Given the description of an element on the screen output the (x, y) to click on. 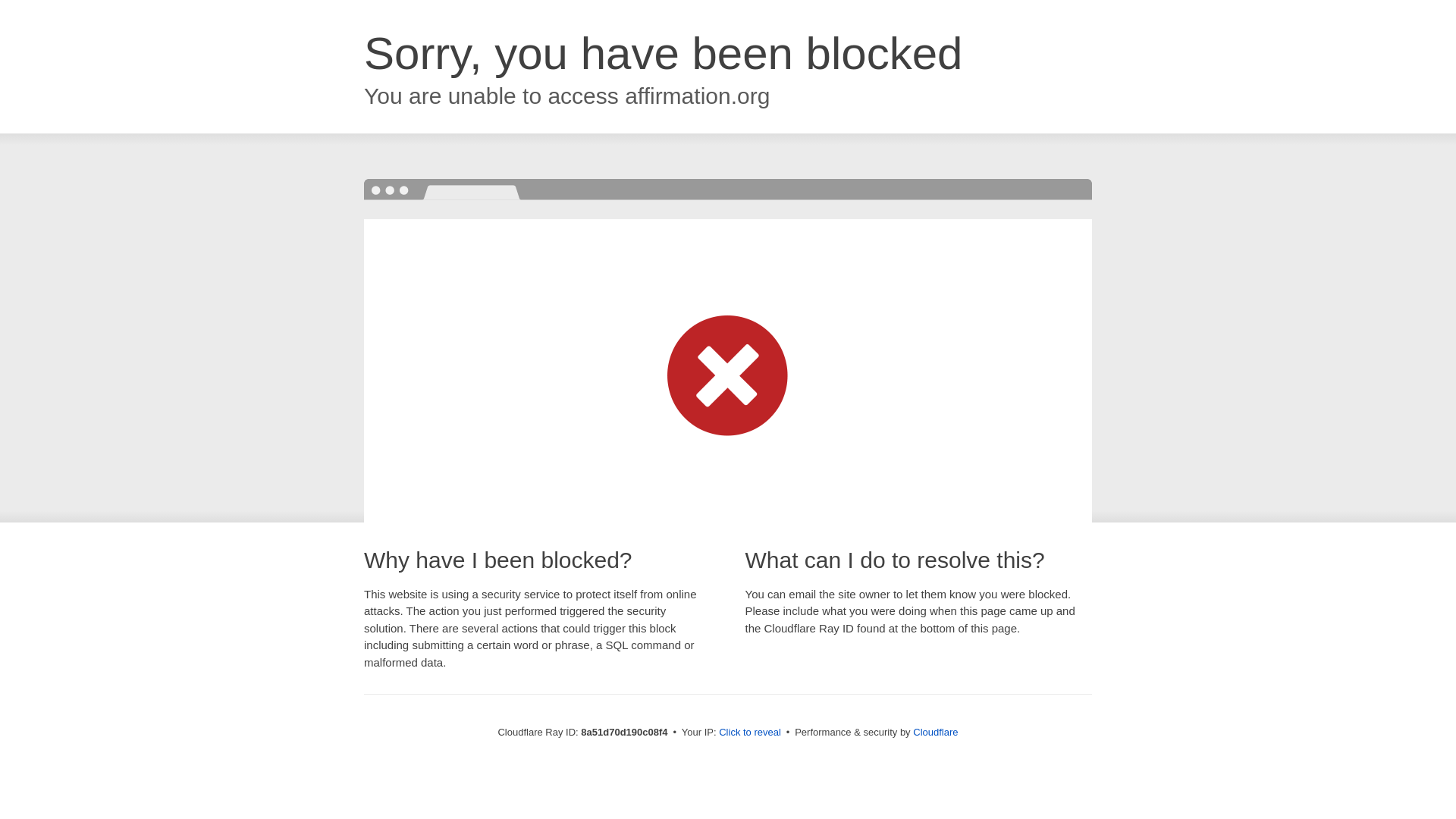
Click to reveal (749, 732)
Cloudflare (935, 731)
